Given the description of an element on the screen output the (x, y) to click on. 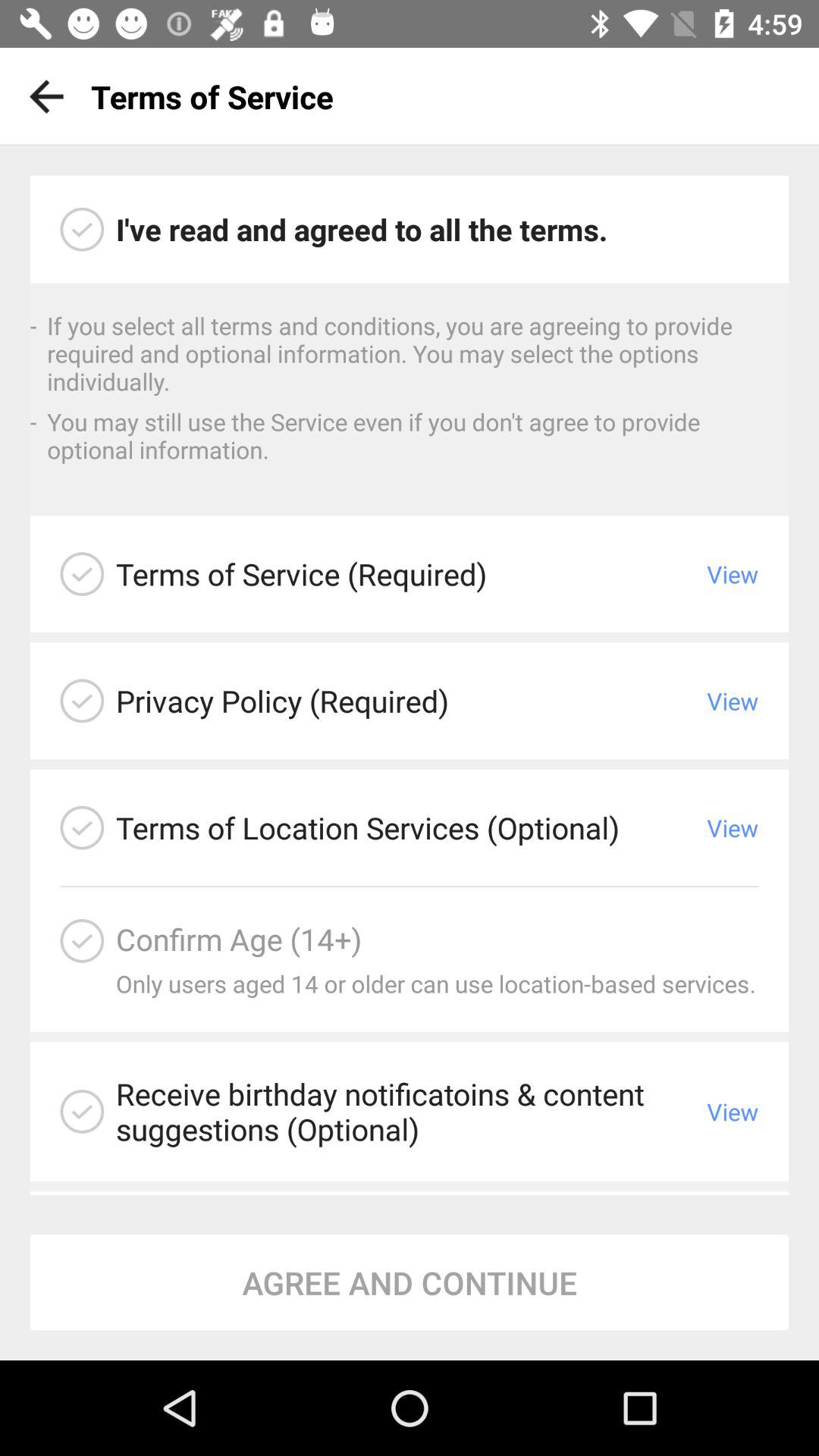
agree to birthday notifications and content suggestions (82, 1111)
